Given the description of an element on the screen output the (x, y) to click on. 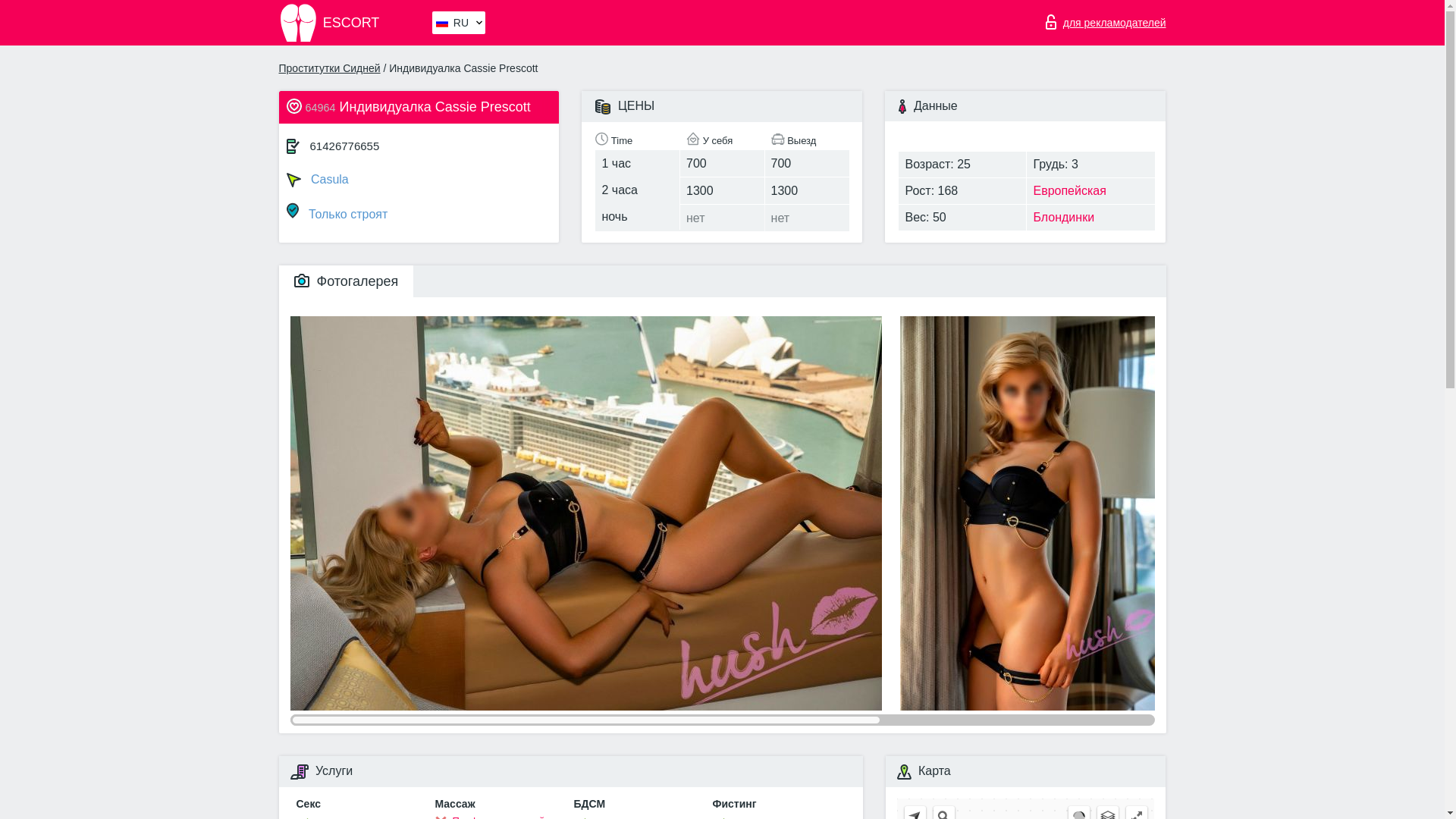
Detect your current location (914, 812)
Casula (418, 177)
ESCORT (354, 22)
Search (943, 812)
61426776655 (345, 145)
